Given the description of an element on the screen output the (x, y) to click on. 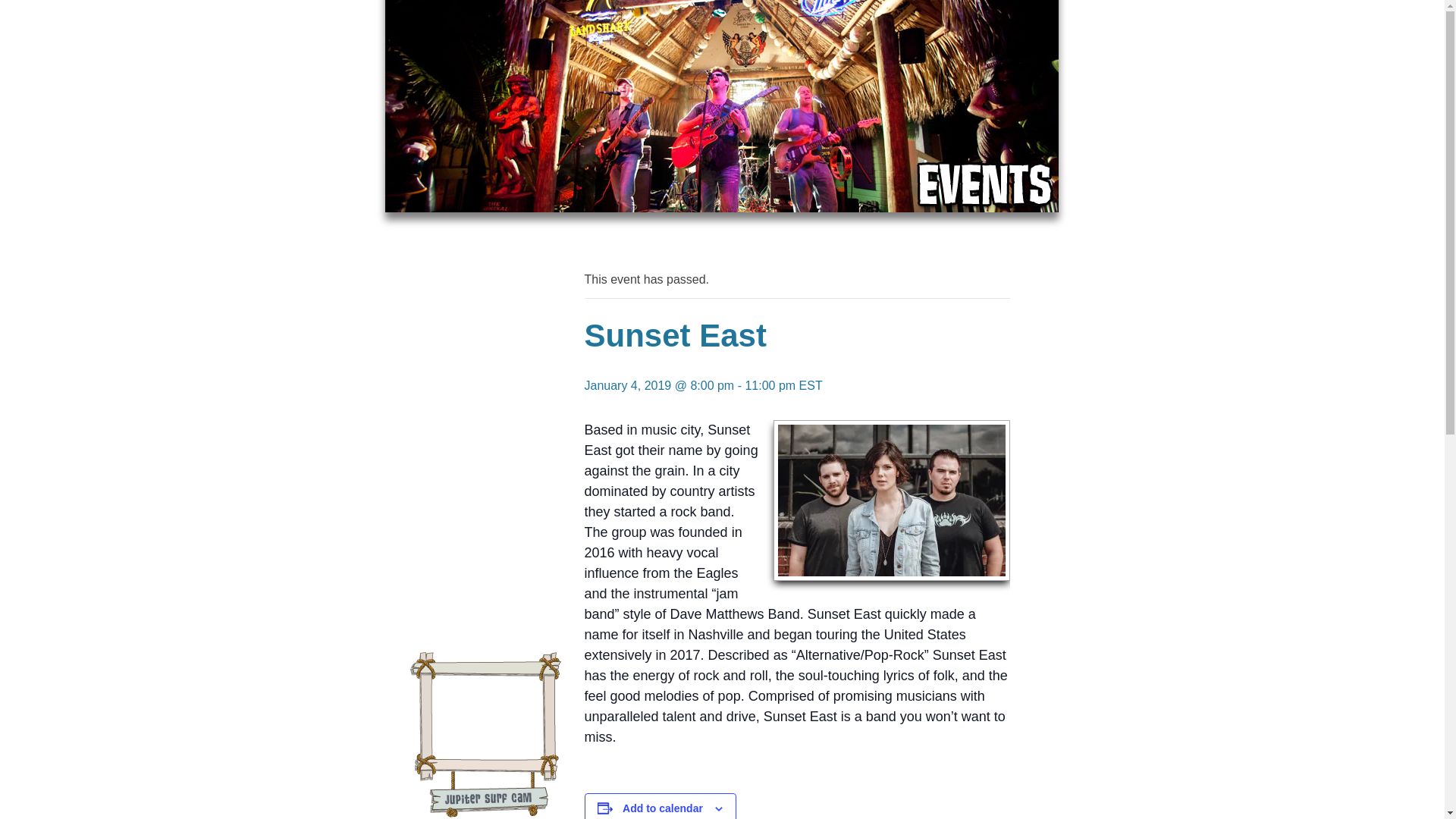
News (482, 359)
Fort Pierce (482, 213)
Skip to content (425, 20)
Menu (482, 250)
Jupiter (482, 177)
Contact (482, 468)
About Us (482, 432)
History (482, 396)
Home (482, 140)
Shop (482, 286)
